Given the description of an element on the screen output the (x, y) to click on. 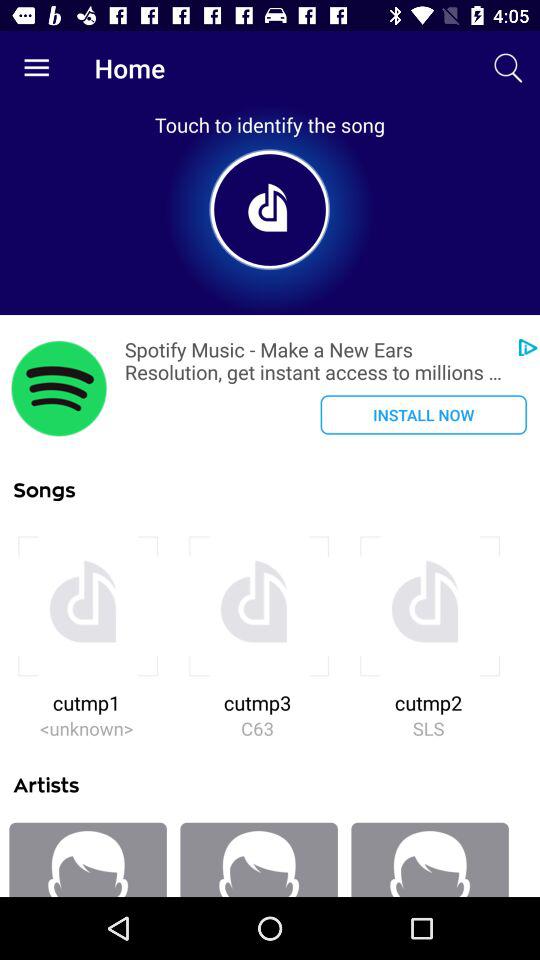
select icon below spotify music make item (423, 414)
